Given the description of an element on the screen output the (x, y) to click on. 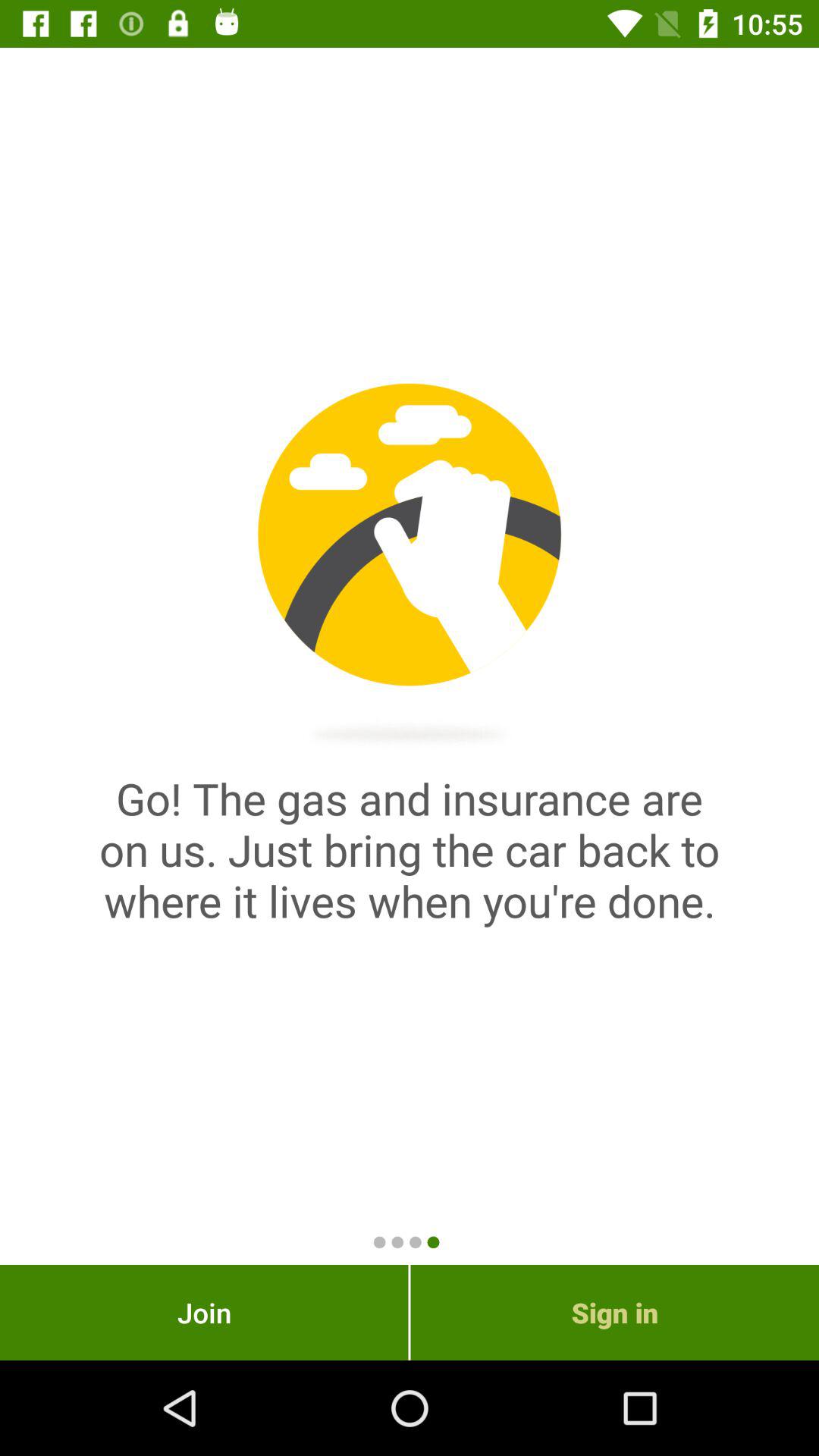
open icon at the bottom right corner (614, 1312)
